Given the description of an element on the screen output the (x, y) to click on. 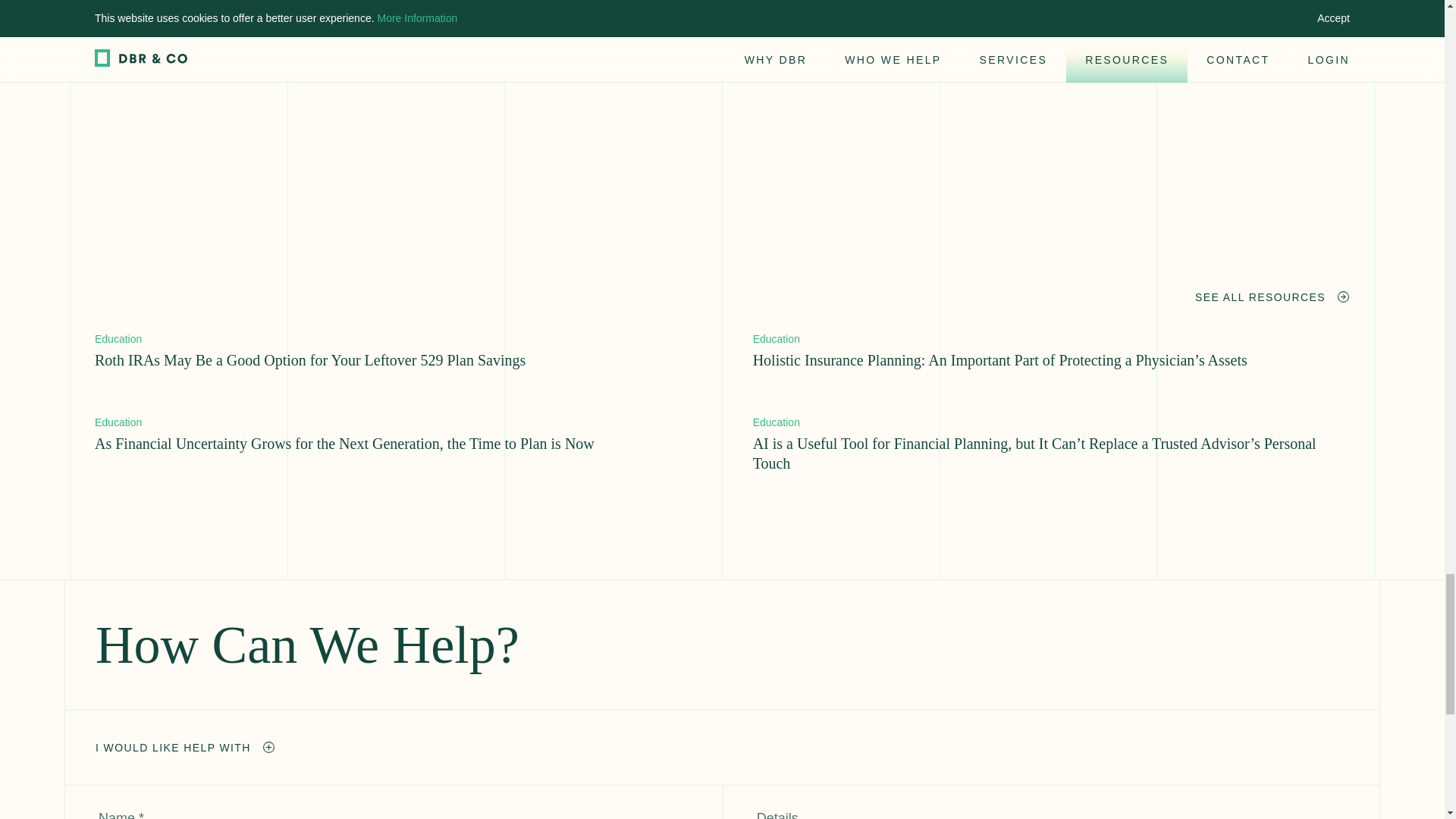
I WOULD LIKE HELP WITH (185, 747)
SEE ALL RESOURCES (1272, 297)
